Given the description of an element on the screen output the (x, y) to click on. 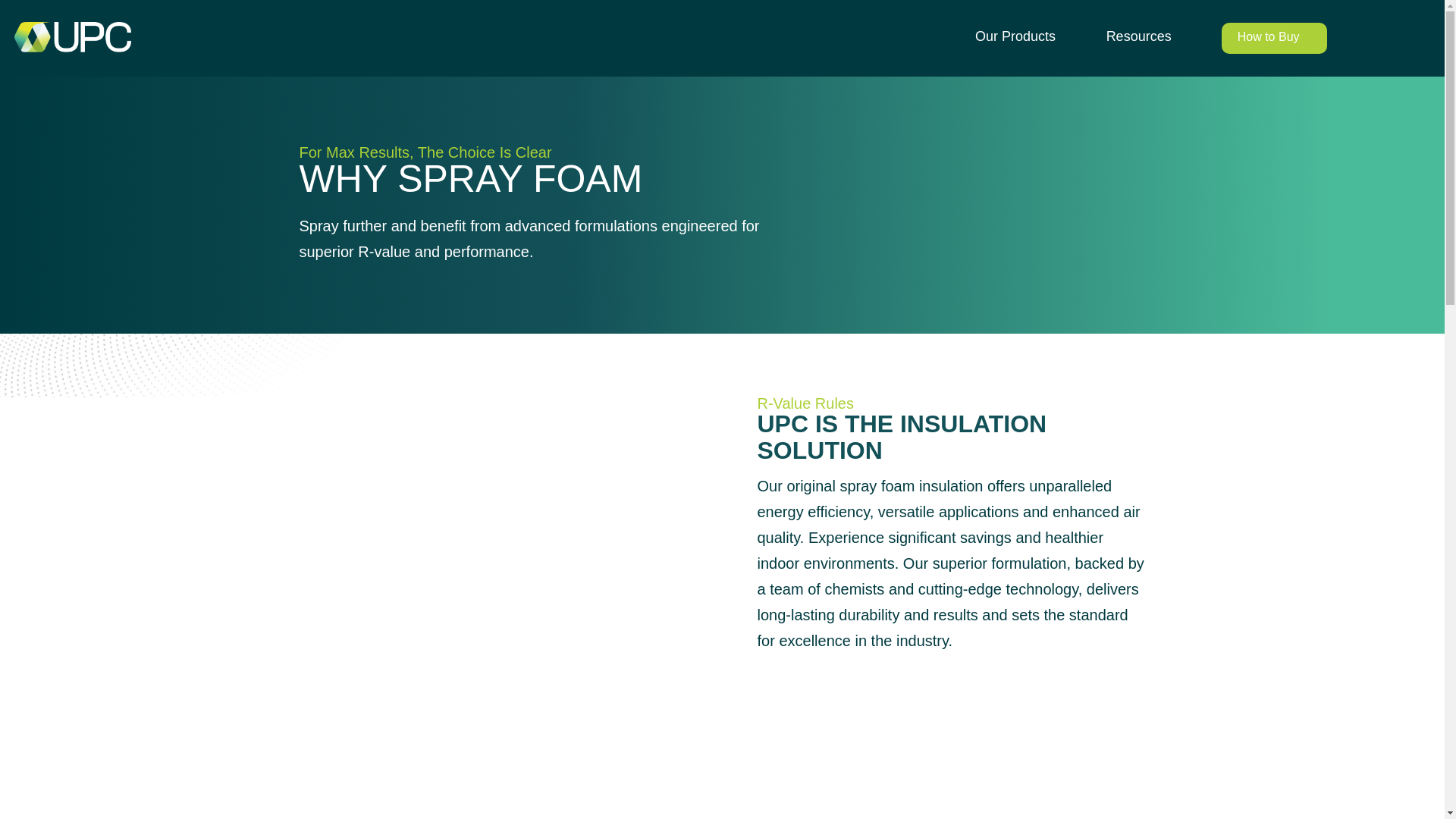
UPC (72, 37)
